Given the description of an element on the screen output the (x, y) to click on. 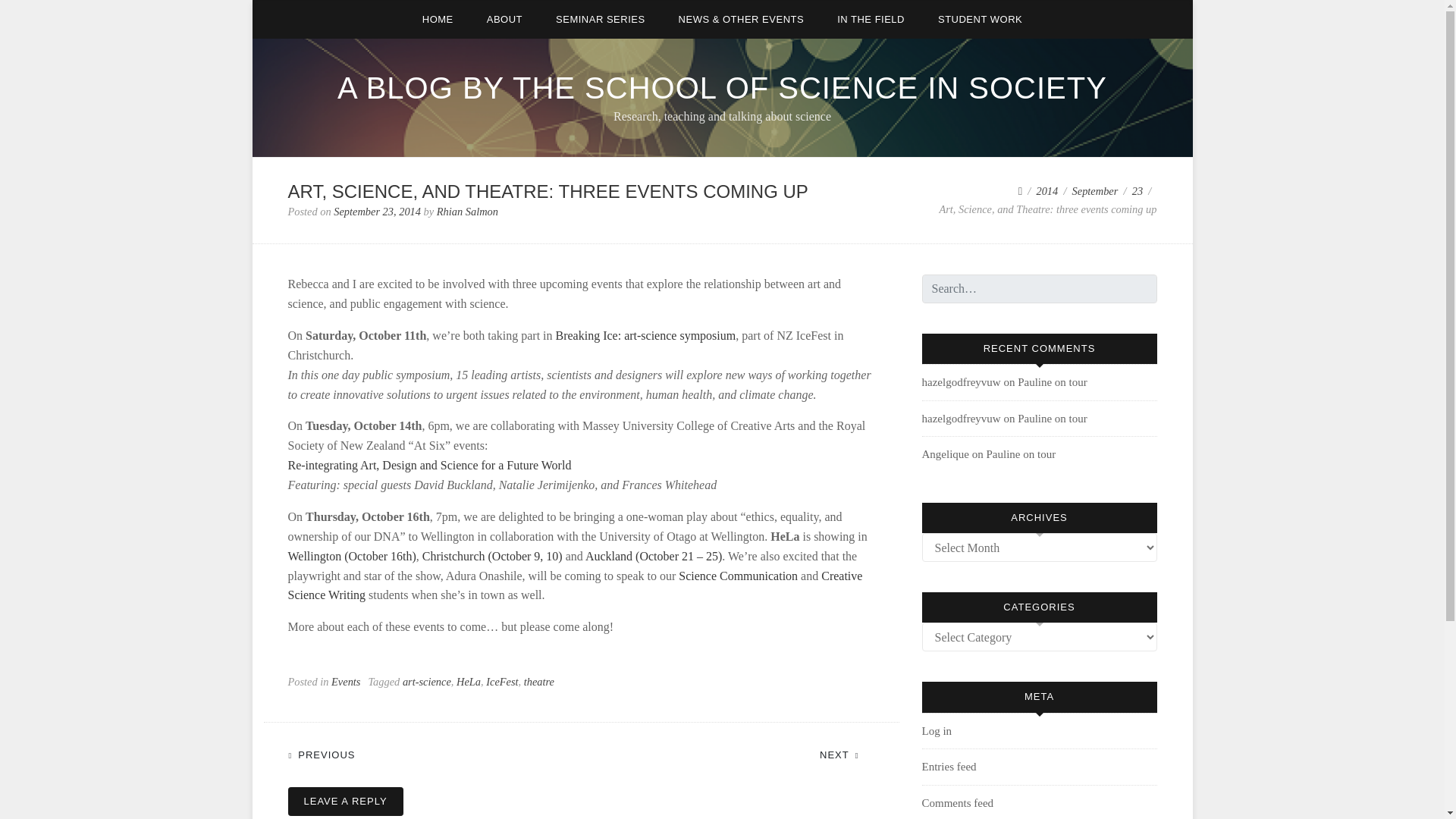
2014 (1046, 191)
Pauline on tour (1052, 381)
September (1094, 191)
Rhian Salmon (466, 211)
crew 352 (575, 585)
HeLa Auck (653, 555)
HeLa chch (492, 555)
NEXT (846, 753)
Pauline on tour (1052, 418)
RSNZ art-design-science (430, 464)
theatre (539, 681)
Creative Science Writing (575, 585)
Events (345, 681)
ABOUT (504, 19)
IceFest (502, 681)
